Given the description of an element on the screen output the (x, y) to click on. 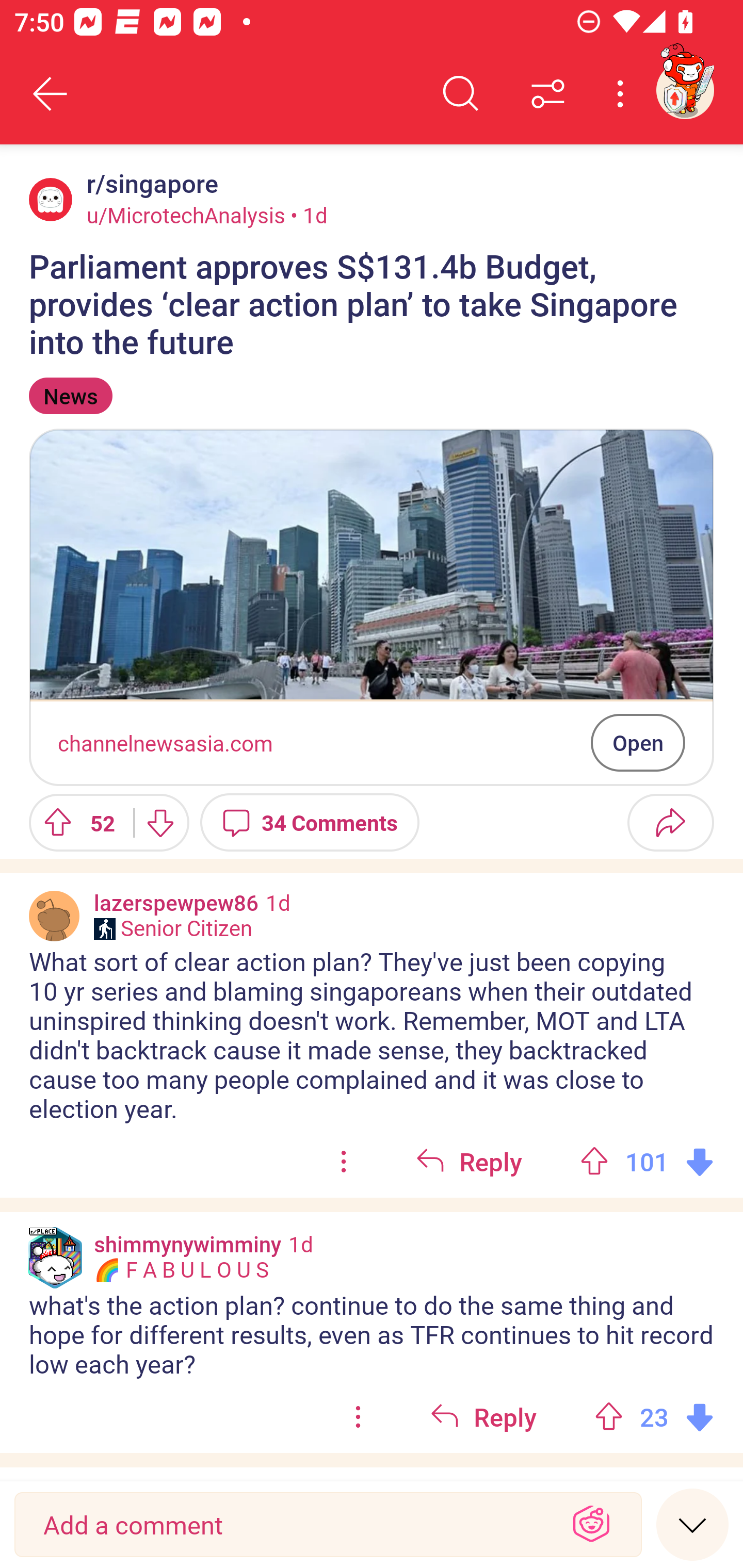
Back (50, 93)
TestAppium002 account (685, 90)
Search comments (460, 93)
Sort comments (547, 93)
More options (623, 93)
r/singapore (148, 183)
Avatar (50, 199)
News (70, 395)
Preview Image channelnewsasia.com Open (371, 606)
Open (637, 742)
Upvote 52 (73, 822)
Downvote (158, 822)
34 Comments (309, 822)
Share (670, 822)
Avatar (53, 915)
￼ Senior Citizen (172, 927)
options (343, 1161)
Reply (469, 1161)
Upvote 101 101 votes Downvote (647, 1161)
🌈 F A B U L O U S (180, 1269)
options (358, 1417)
Reply (483, 1417)
Upvote 23 23 votes Downvote (654, 1417)
Speed read (692, 1524)
Add a comment (291, 1524)
Show Expressions (590, 1524)
